Given the description of an element on the screen output the (x, y) to click on. 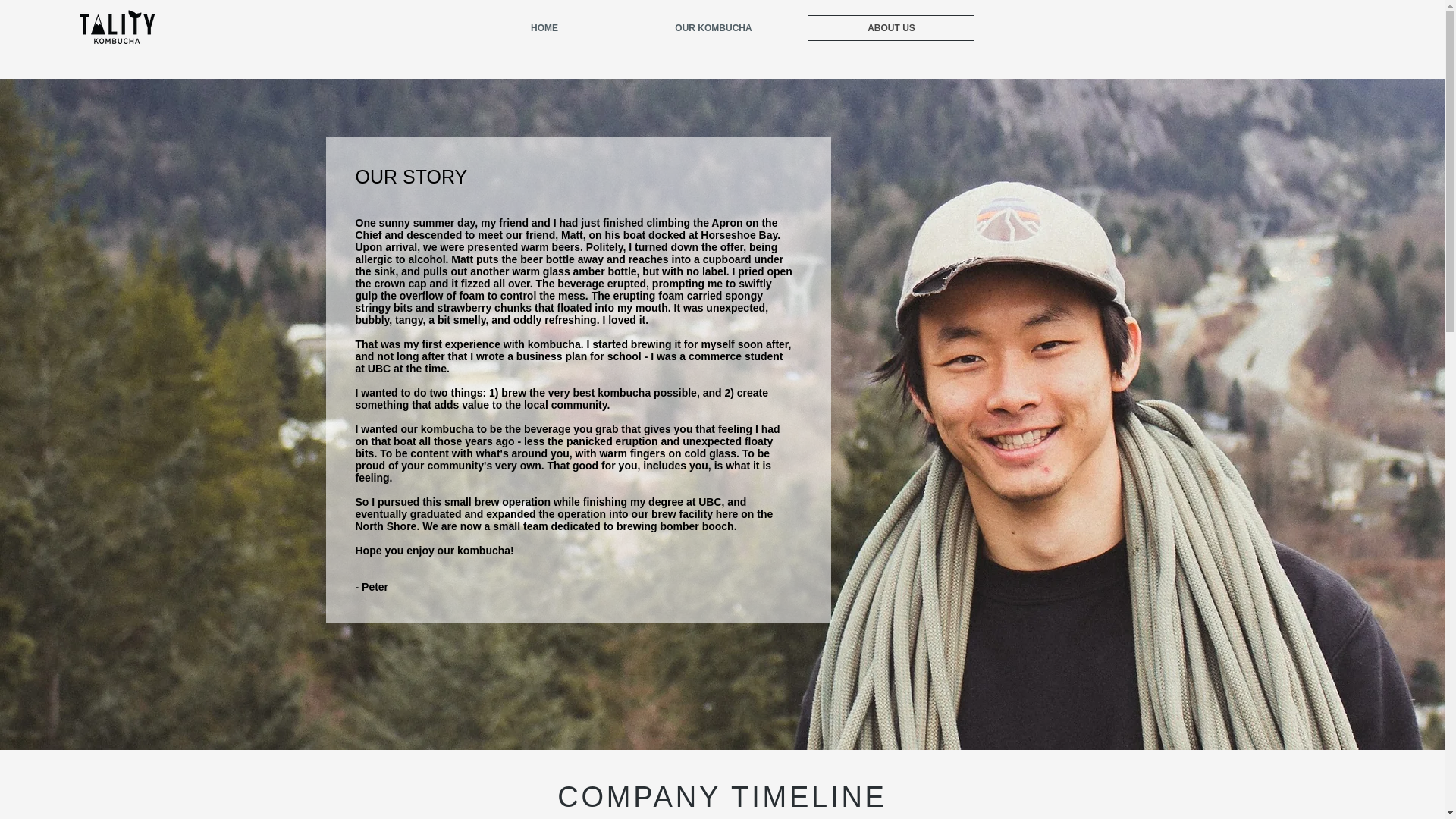
HOME (544, 27)
Tality Kombucha Logo 300px.png (117, 26)
ABOUT US (891, 27)
OUR KOMBUCHA (713, 27)
